Given the description of an element on the screen output the (x, y) to click on. 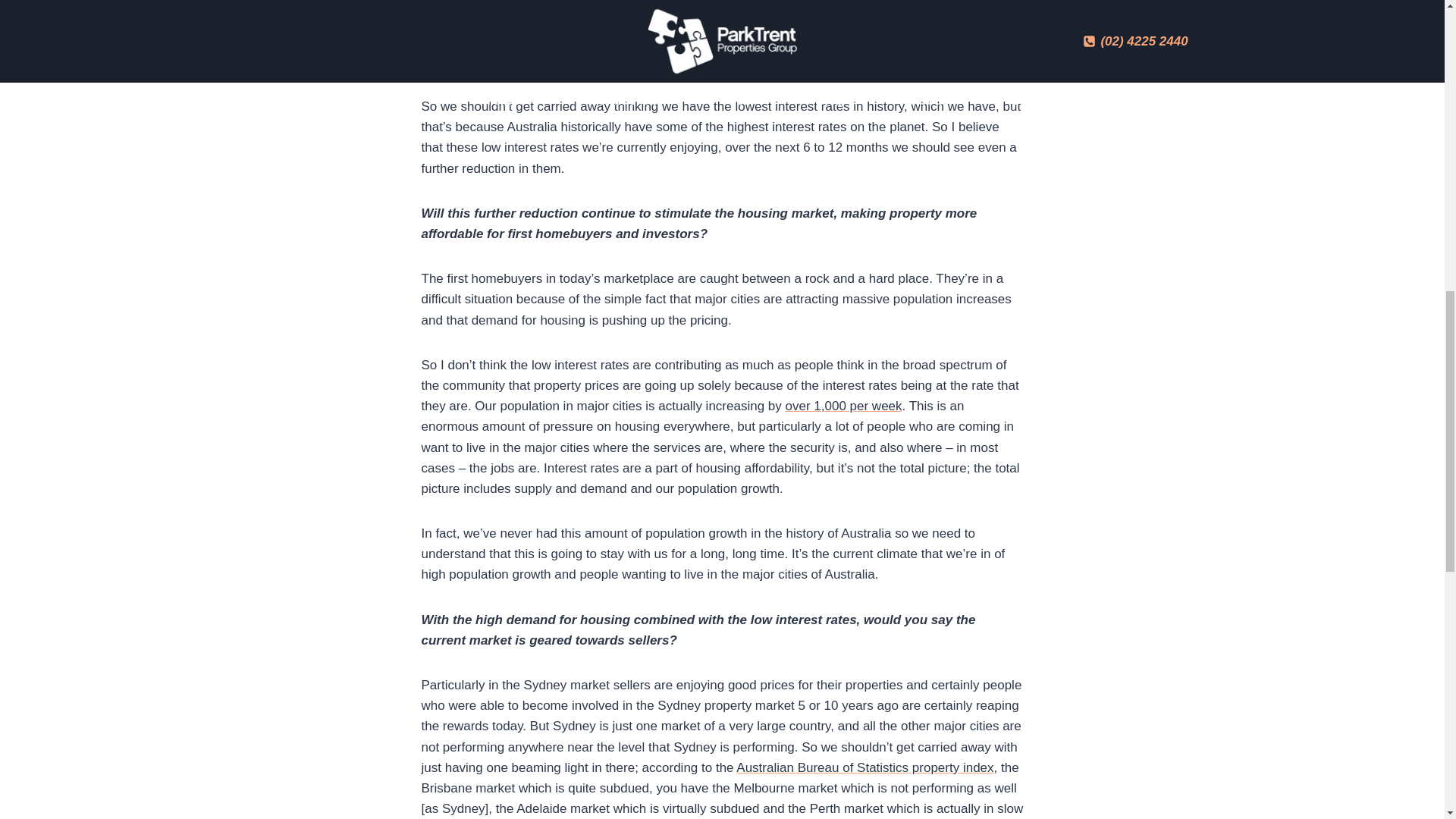
according to API Magazine (727, 61)
over 1,000 per week (844, 405)
Australian Bureau of Statistics property index (864, 767)
